Given the description of an element on the screen output the (x, y) to click on. 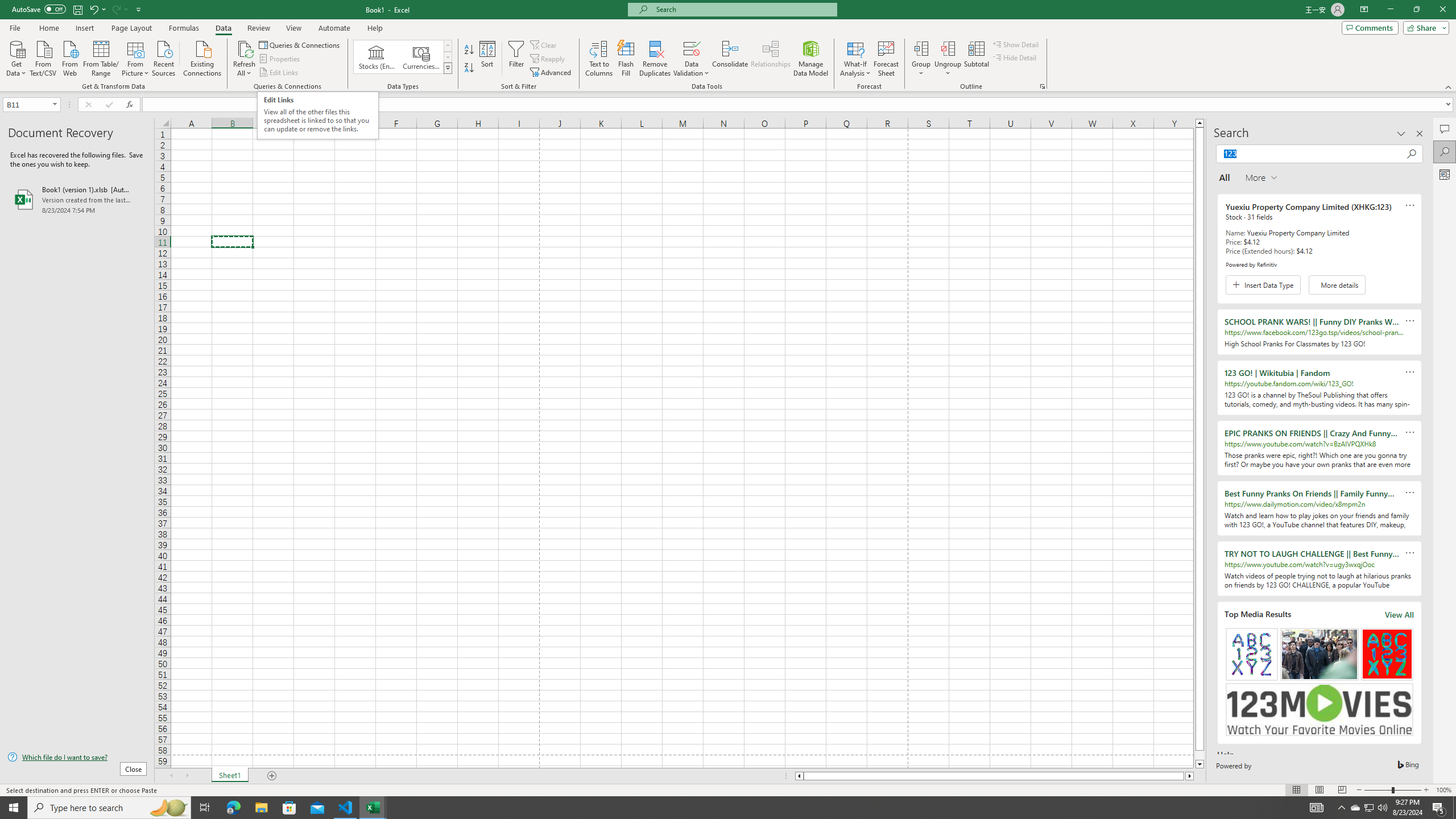
Consolidate... (729, 58)
